Given the description of an element on the screen output the (x, y) to click on. 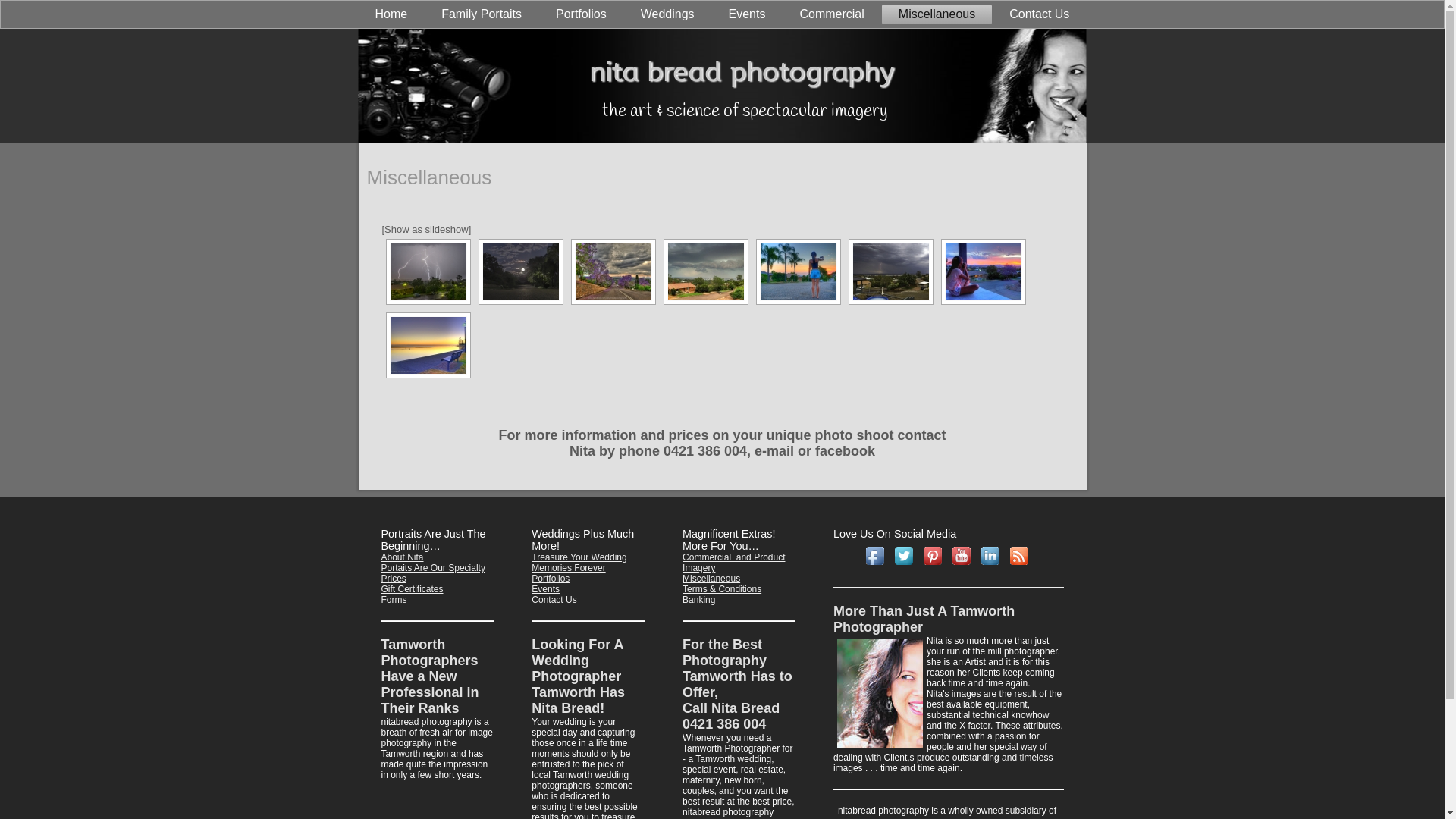
Events Element type: text (747, 14)
Prices Element type: text (392, 578)
Visit Us On Pinterest Element type: hover (933, 554)
Home Element type: text (390, 14)
Treasure Your Wedding Memories Forever Element type: text (578, 562)
140313a Element type: hover (798, 271)
Gift Certificates Element type: text (411, 588)
minitornado Element type: hover (705, 271)
Visit Us On Facebook Element type: hover (876, 554)
storm Element type: hover (890, 271)
Forms Element type: text (393, 599)
jacsunjess Element type: hover (983, 271)
Visit Us On Youtube Element type: hover (962, 554)
Family Portaits Element type: text (481, 14)
Portfolios Element type: text (581, 14)
Visit Us On Twitter Element type: hover (905, 554)
Weddings Element type: text (667, 14)
Terms & Conditions Element type: text (721, 588)
Miscellaneous Element type: text (936, 14)
storm2 Element type: hover (428, 271)
[Show as slideshow] Element type: text (426, 229)
moon270313 Element type: hover (520, 271)
oxjac4 Element type: hover (613, 271)
Portfolios Element type: text (550, 578)
e-mail Element type: text (773, 450)
Visit Us On Linkedin Element type: hover (991, 554)
Commercial Element type: text (831, 14)
Check Our Feed Element type: hover (1020, 554)
About Nita Element type: text (401, 557)
facebook Element type: text (845, 450)
Contact Us Element type: text (553, 599)
14a Element type: hover (428, 345)
Banking Element type: text (698, 599)
nita bread photography Element type: text (741, 71)
Miscellaneous Element type: text (711, 578)
Portaits Are Our Specialty Element type: text (432, 567)
Contact Us Element type: text (1038, 14)
Commercial  and Product Imagery Element type: text (733, 562)
Events Element type: text (545, 588)
